Given the description of an element on the screen output the (x, y) to click on. 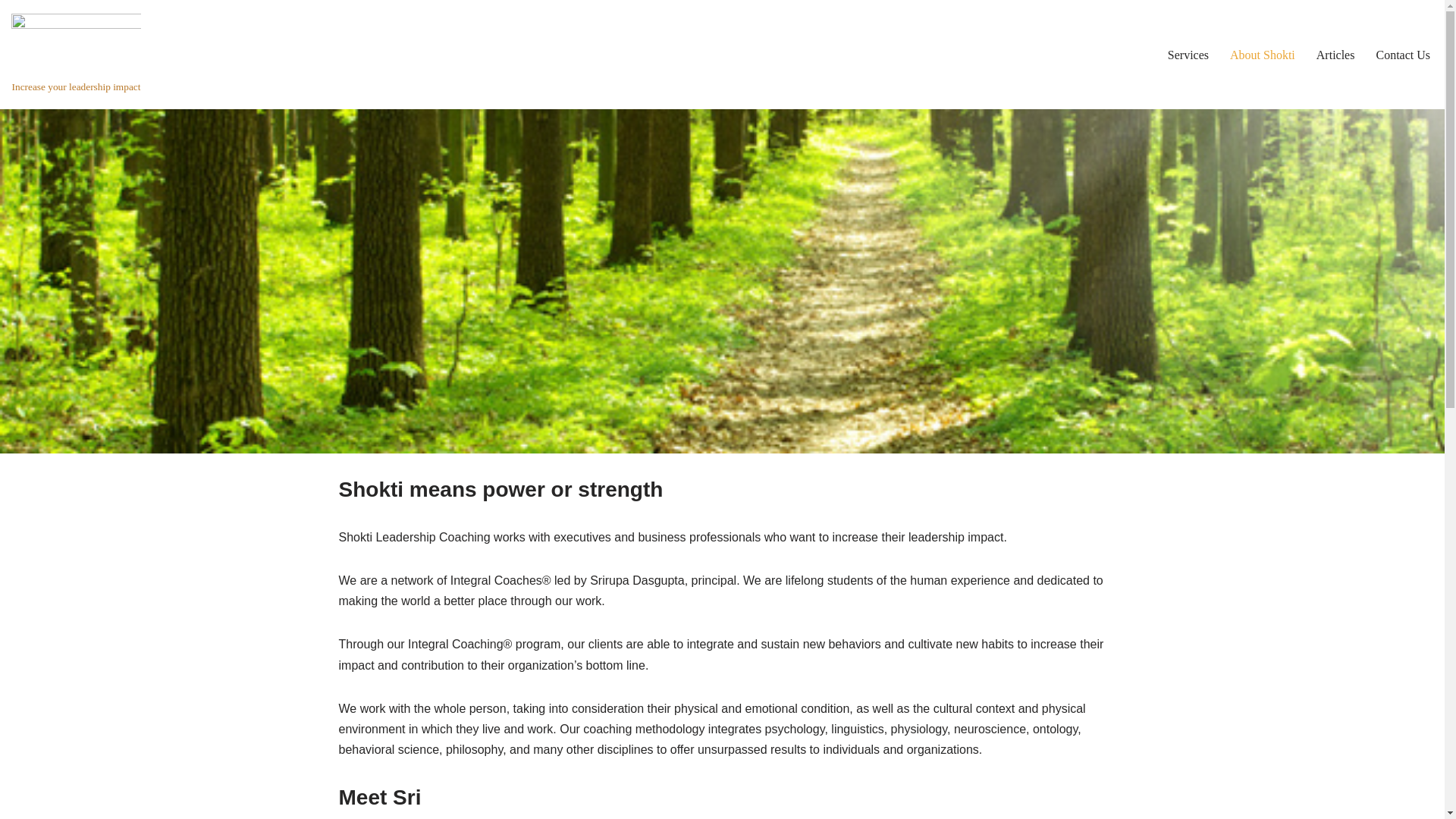
Services (1187, 55)
About Shokti (1262, 55)
Contact Us (1402, 55)
Skip to content (11, 31)
Articles (1335, 55)
Increase your leadership impact (76, 54)
